Given the description of an element on the screen output the (x, y) to click on. 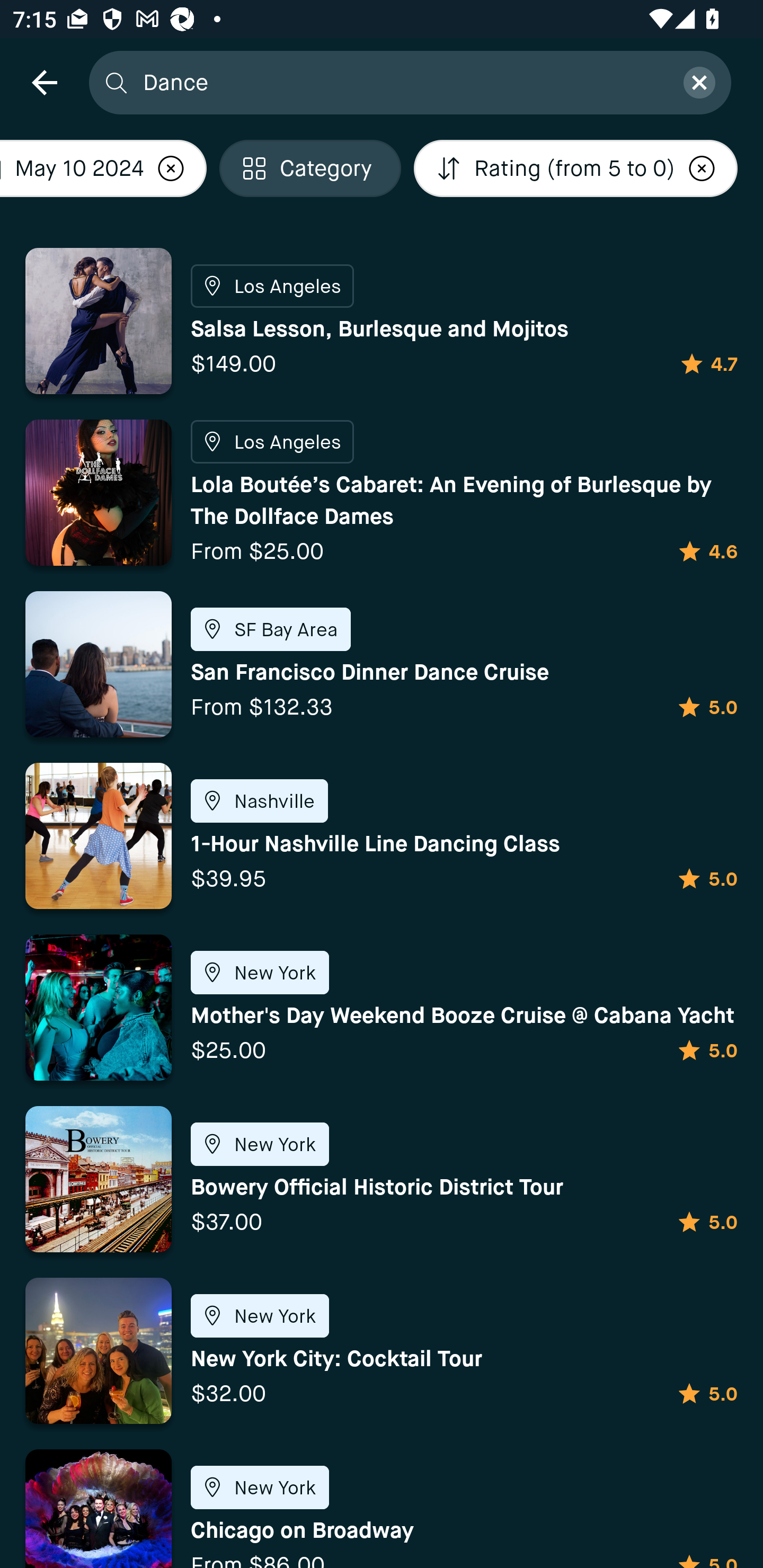
navigation icon (44, 81)
Dance (402, 81)
Localized description (170, 168)
Localized description Category (310, 168)
Localized description (701, 168)
